Given the description of an element on the screen output the (x, y) to click on. 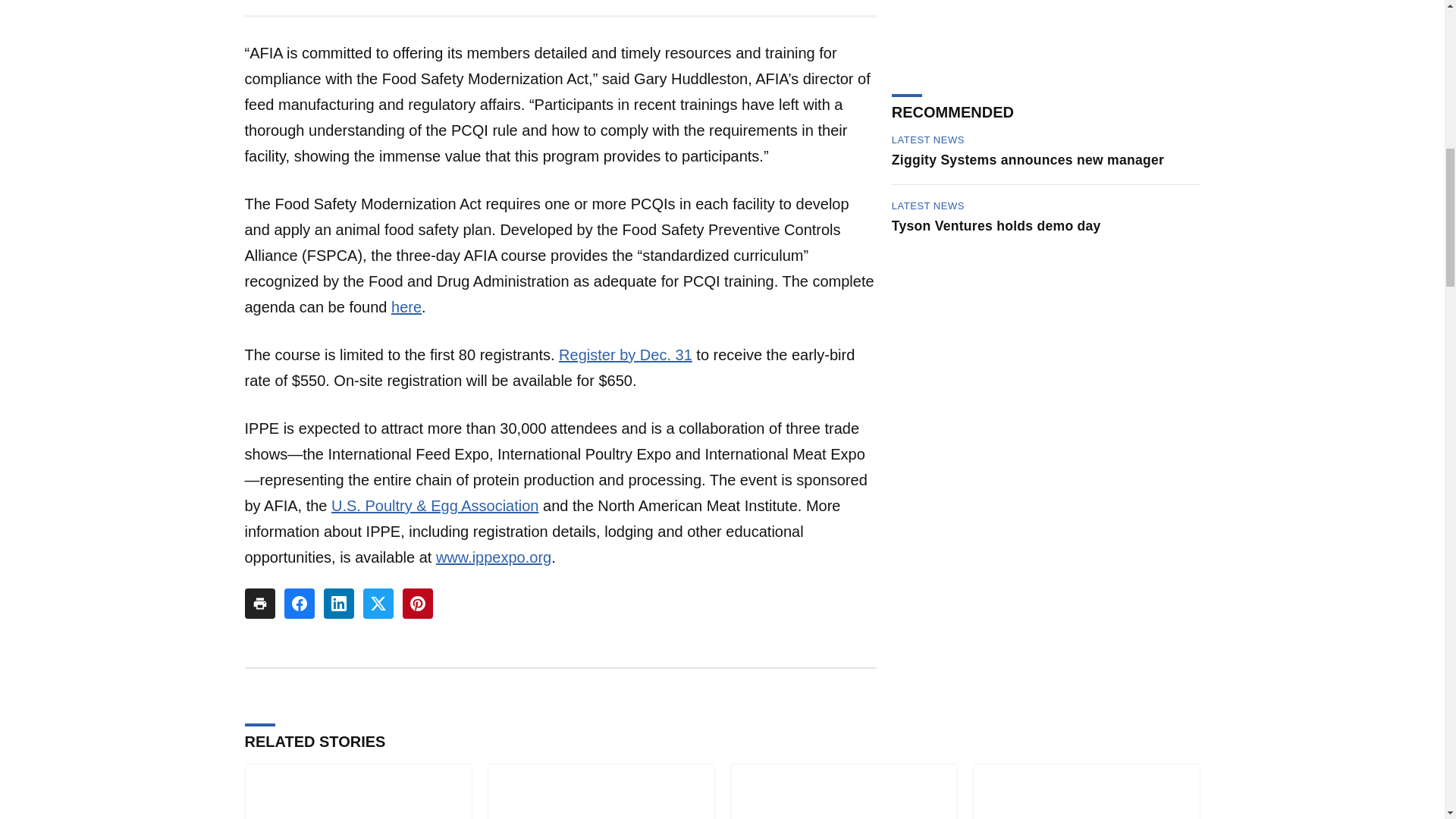
Share To print (259, 603)
Share To pinterest (416, 603)
Share To linkedin (338, 603)
Share To facebook (298, 603)
Share To twitter (377, 603)
